Given the description of an element on the screen output the (x, y) to click on. 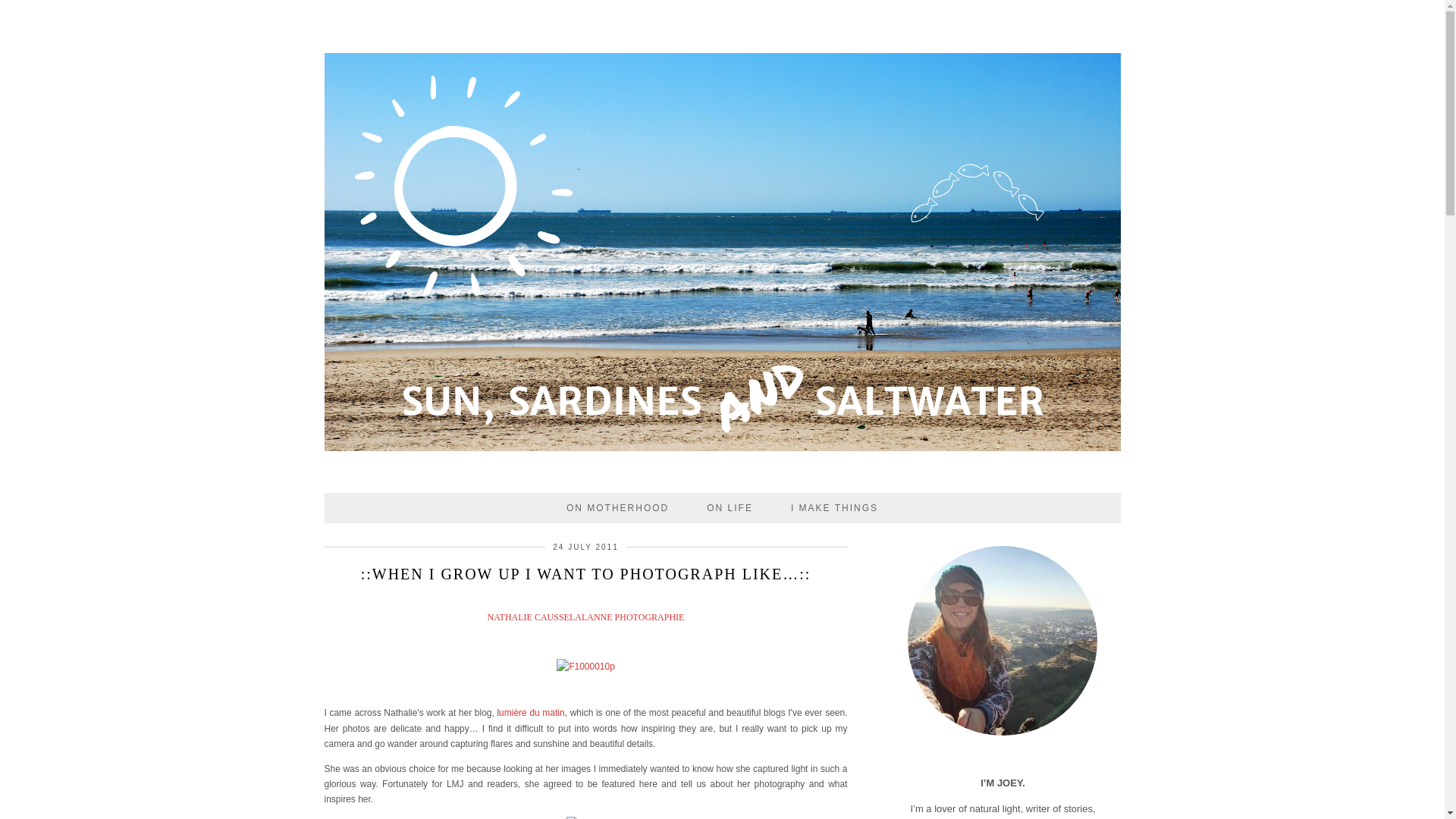
NATHALIE CAUSSELALANNE PHOTOGRAPHIE (585, 616)
ON MOTHERHOOD (617, 508)
I MAKE THINGS (833, 508)
ON LIFE (729, 508)
